Given the description of an element on the screen output the (x, y) to click on. 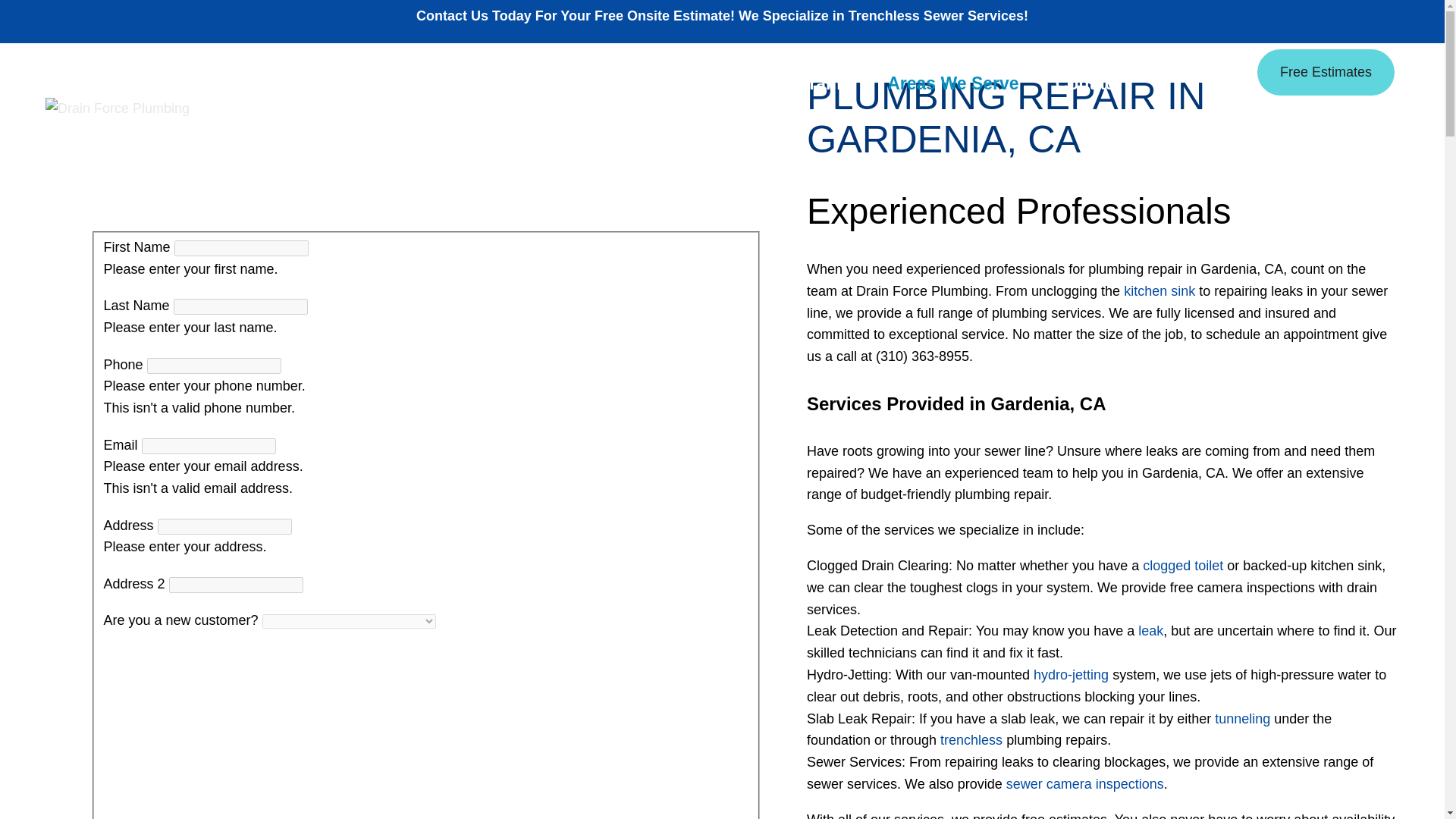
Coupons (1085, 48)
Free Estimates (1325, 72)
Plumbing Services (598, 83)
Drain Force Plumbing (117, 108)
About Us (445, 83)
Our Gallery (1173, 48)
Contact (1078, 83)
Open the accessibility options menu (31, 786)
Recent Projects (981, 48)
Home (354, 83)
